Given the description of an element on the screen output the (x, y) to click on. 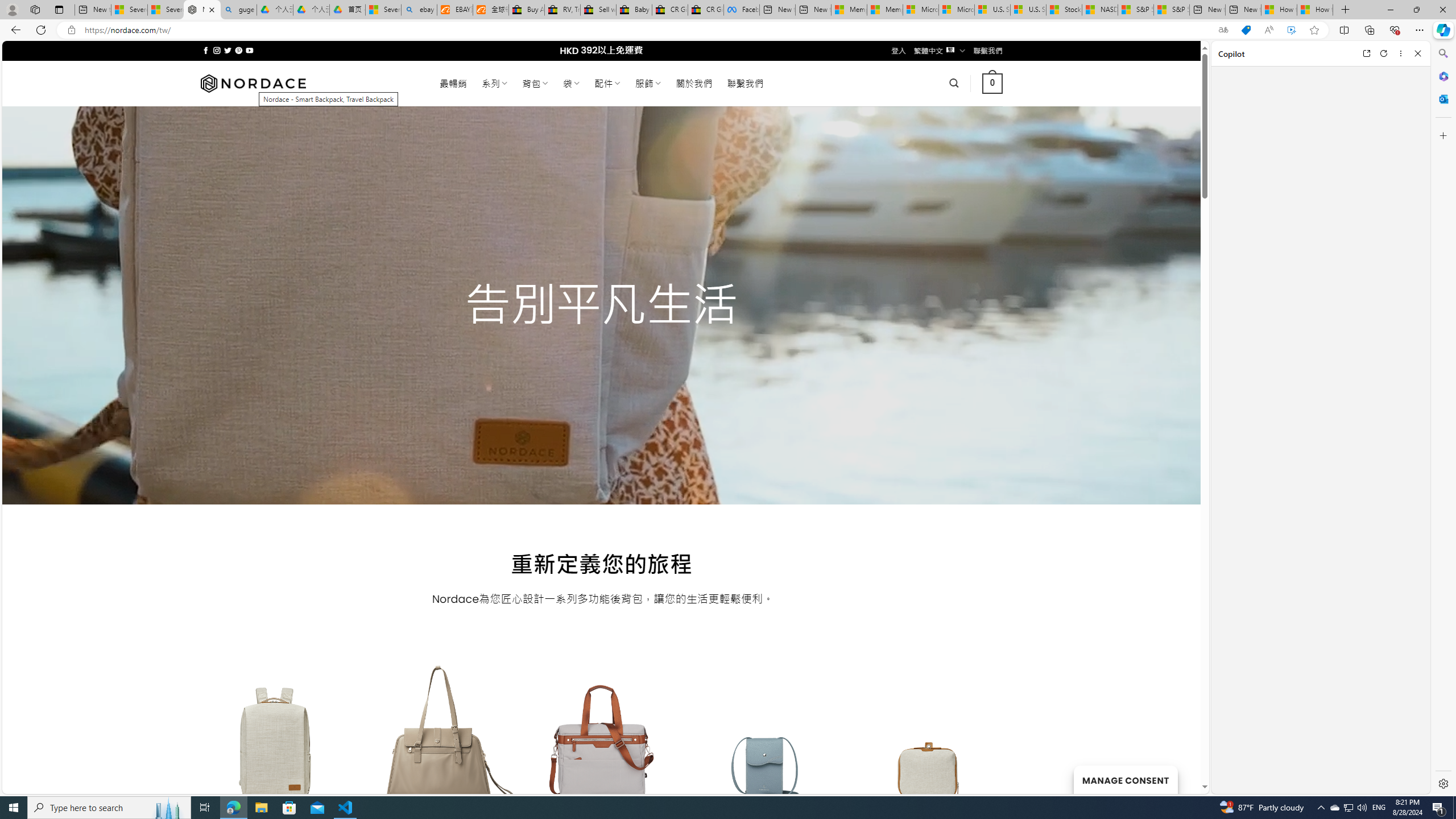
Enhance video (1291, 29)
guge yunpan - Search (238, 9)
  0   (992, 83)
